Given the description of an element on the screen output the (x, y) to click on. 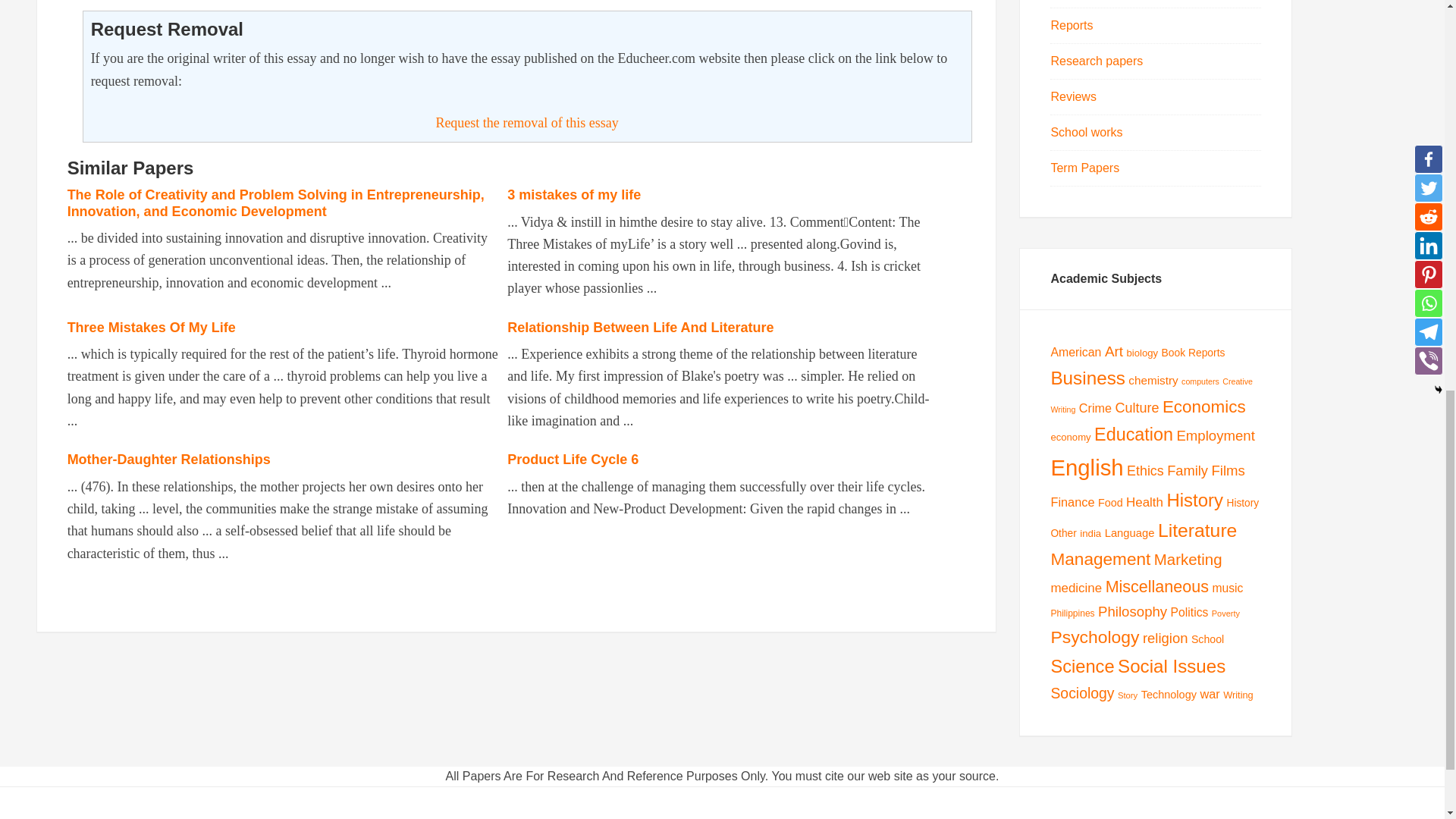
Reports (1071, 24)
Reviews (1072, 96)
Research papers (1095, 60)
Term Papers (1084, 167)
Mother-Daughter Relationships (168, 459)
Three Mistakes Of My Life (150, 327)
School works (1085, 132)
Product Life Cycle 6 (572, 459)
3 mistakes of my life (573, 194)
Request the removal of this essay (526, 122)
Relationship Between Life And Literature (639, 327)
